Given the description of an element on the screen output the (x, y) to click on. 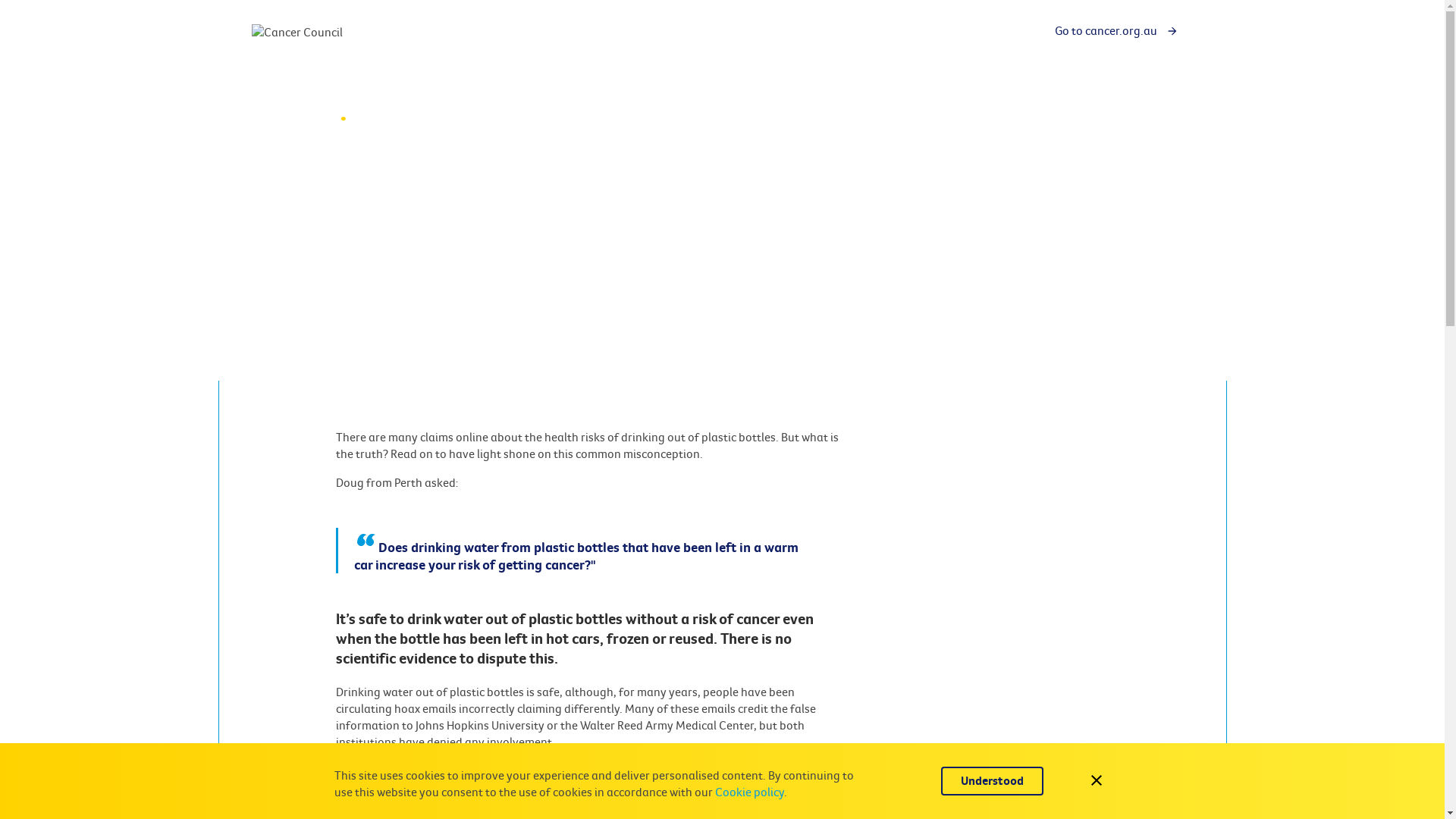
SUBMIT A QUESTION Element type: text (1040, 115)
Cookie policy Element type: text (749, 792)
Go to cancer.org.au Element type: text (1115, 30)
Food Standards Australia New Zealand Element type: text (591, 804)
iHeard. Element type: text (306, 113)
Understood Element type: text (992, 780)
close Element type: hover (1096, 781)
SEARCH Element type: text (1144, 115)
